Given the description of an element on the screen output the (x, y) to click on. 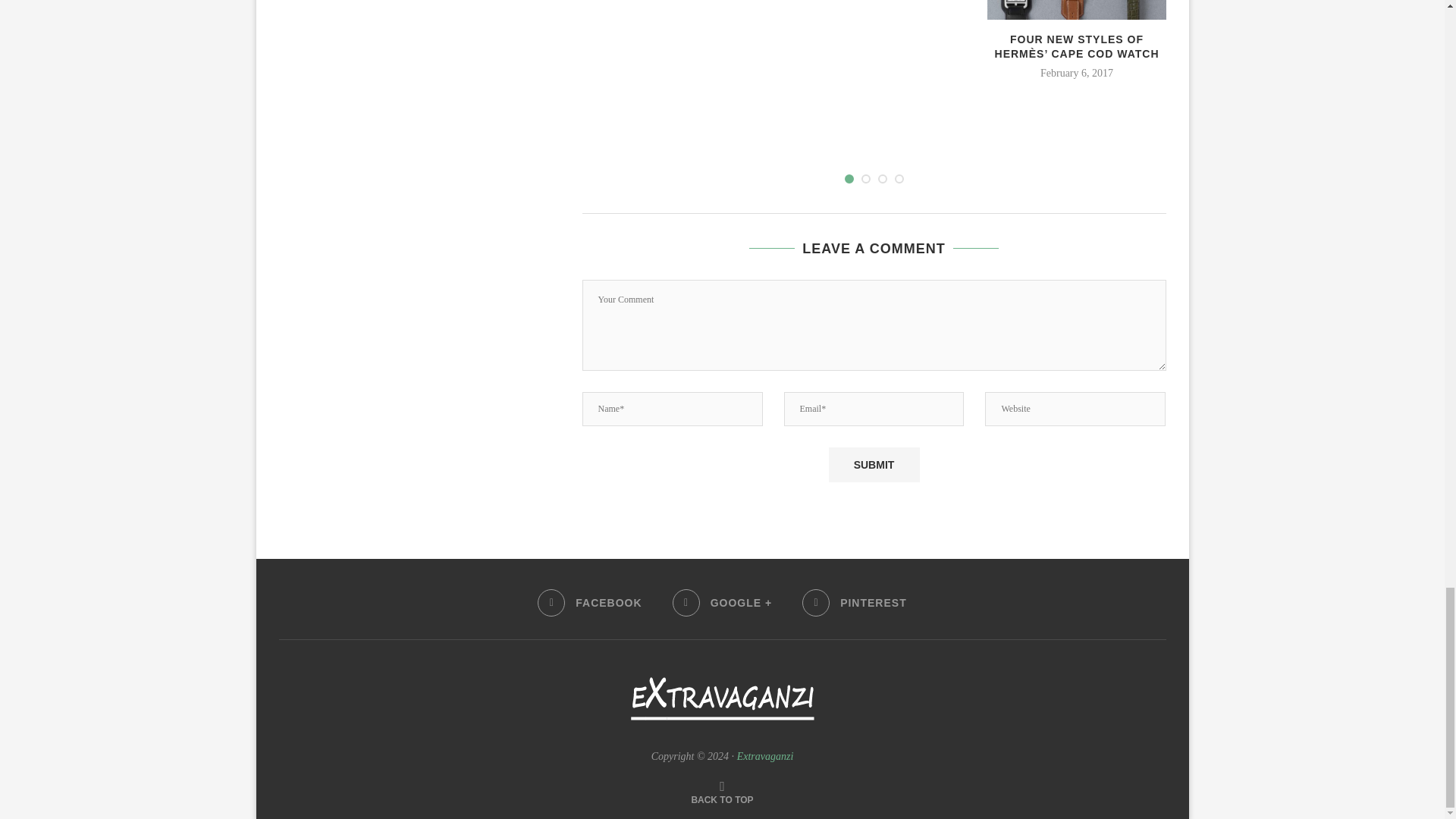
Submit (873, 464)
